Given the description of an element on the screen output the (x, y) to click on. 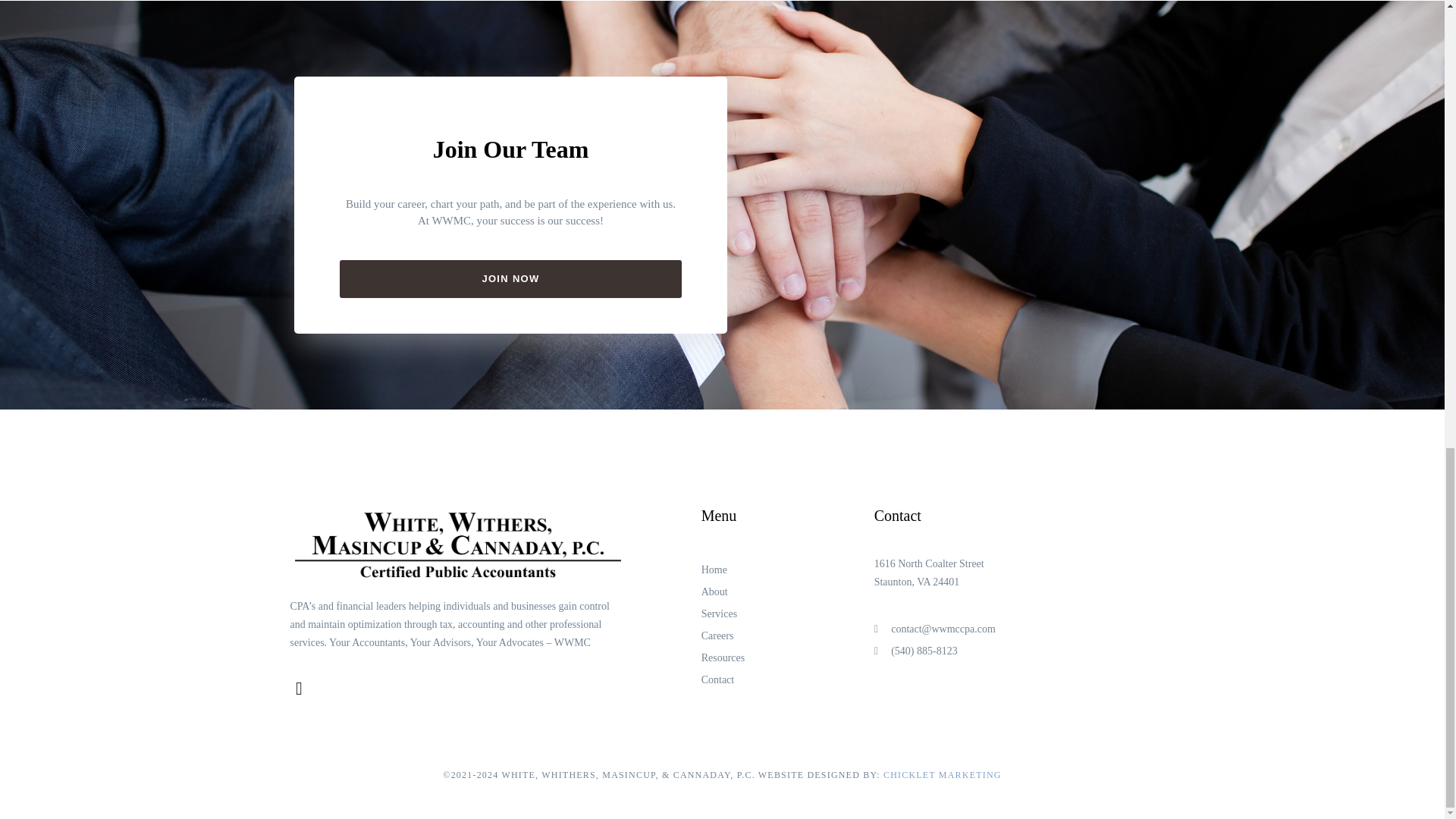
Home (788, 570)
JOIN NOW (510, 279)
